Given the description of an element on the screen output the (x, y) to click on. 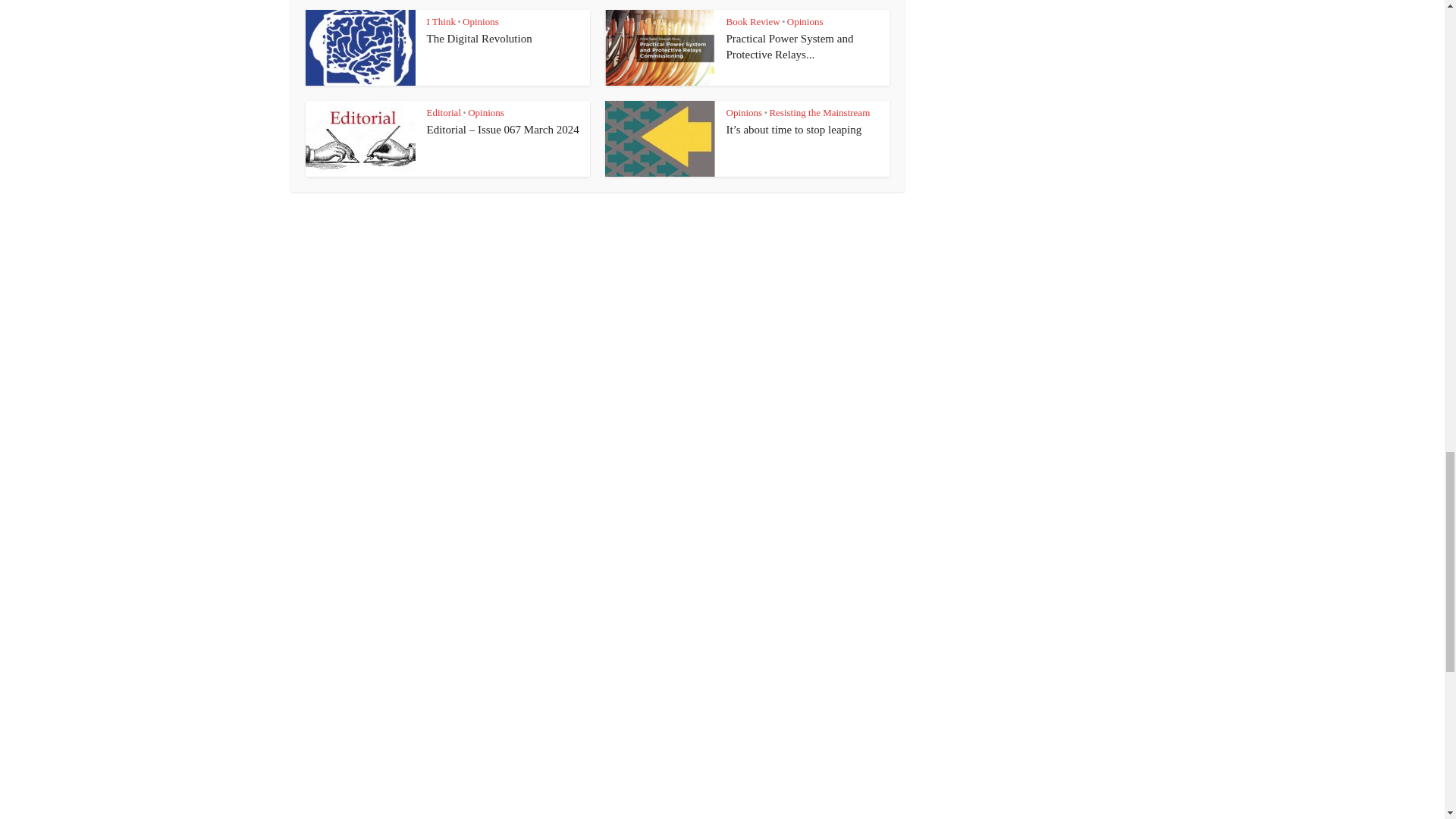
The Digital Revolution (478, 38)
Practical Power System and Protective Relays Commissioning (789, 45)
